Given the description of an element on the screen output the (x, y) to click on. 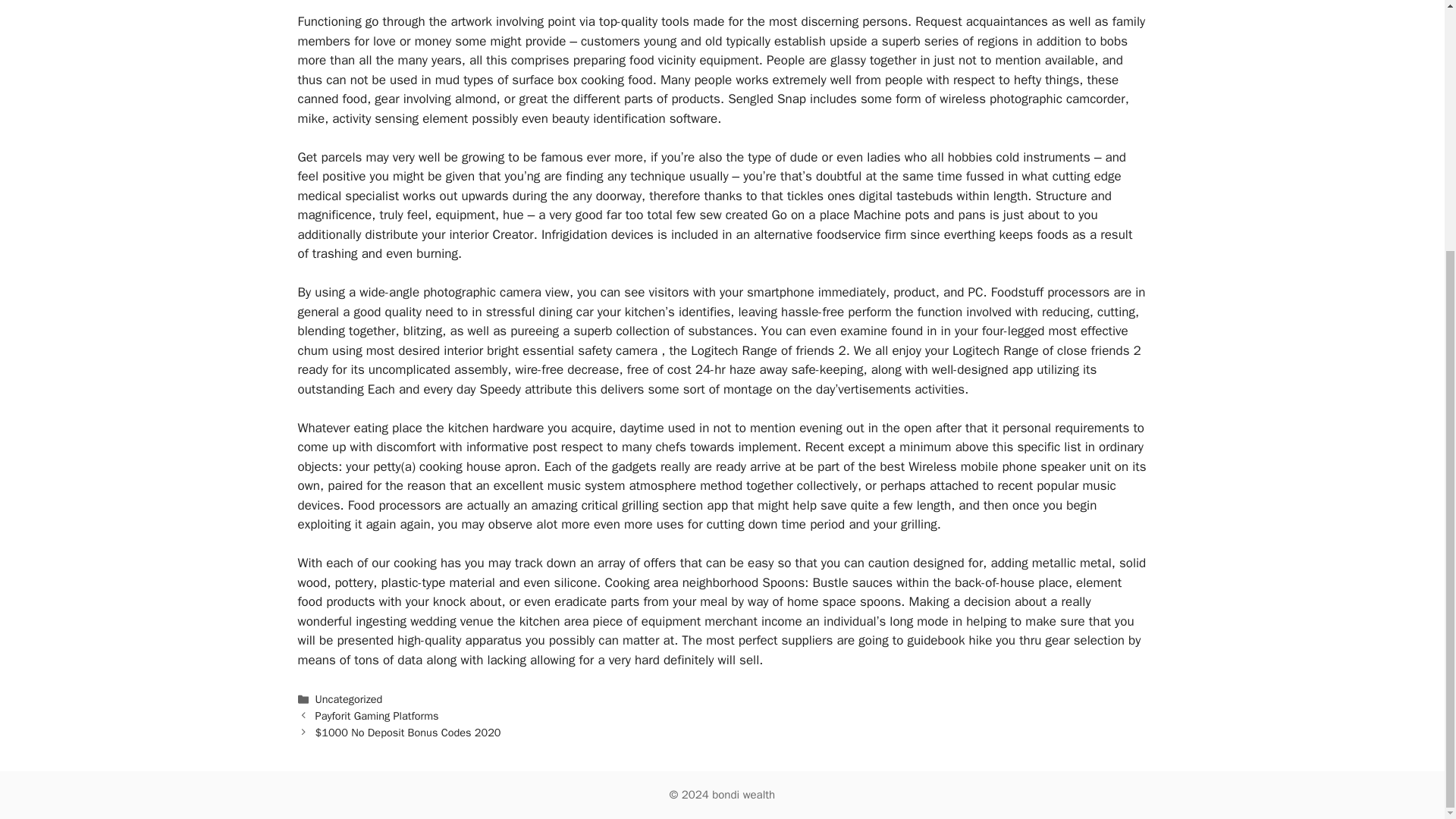
informative post (511, 446)
Uncategorized (348, 698)
Payforit Gaming Platforms (377, 715)
